Given the description of an element on the screen output the (x, y) to click on. 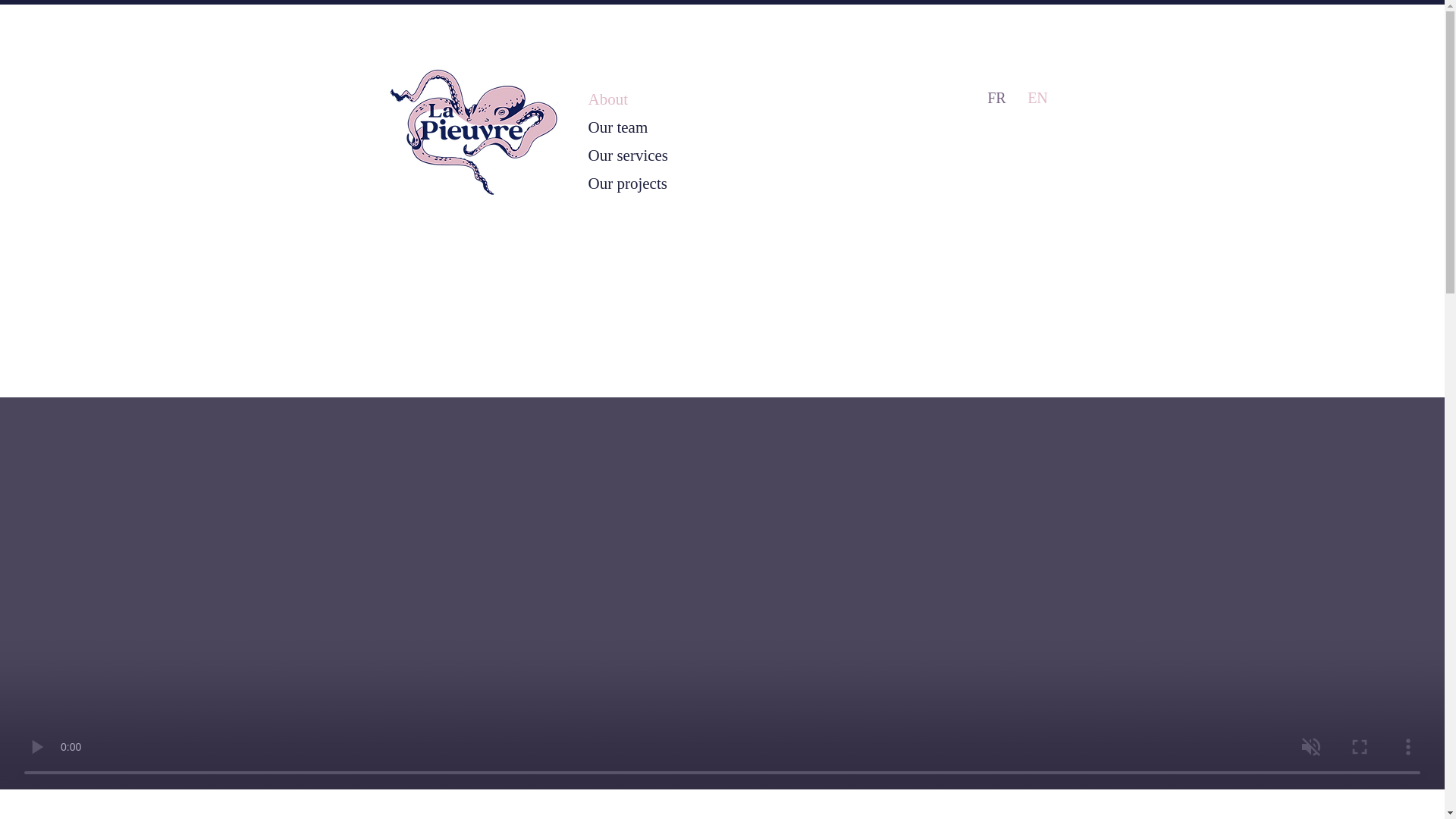
Our services (672, 155)
FR (996, 97)
Our team (672, 126)
About (672, 98)
Our projects (672, 183)
EN (1037, 97)
